Given the description of an element on the screen output the (x, y) to click on. 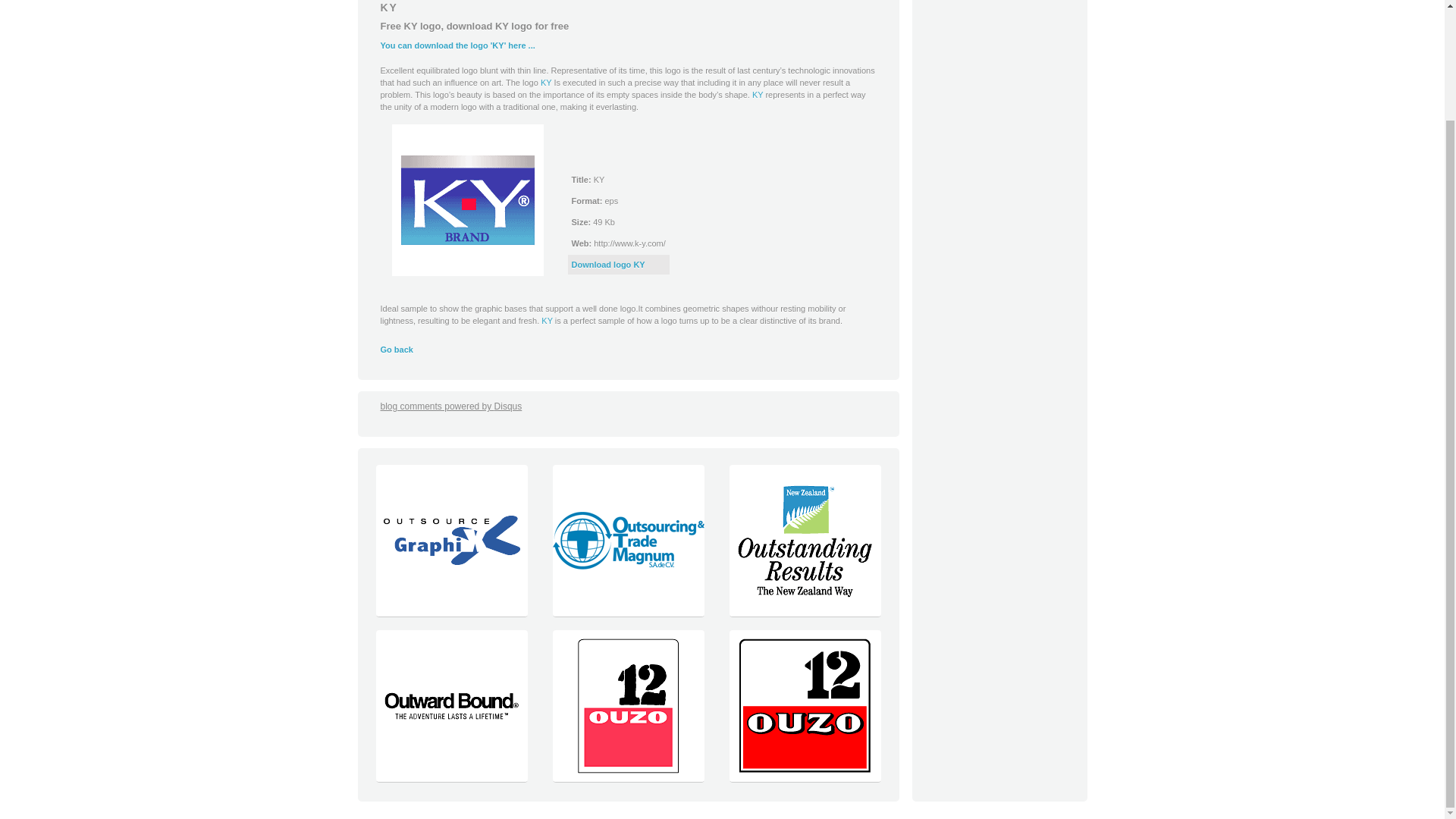
KY (546, 320)
Download Logo Outsource Graphix (450, 612)
Download KY (467, 200)
Download Logo Outward Bound (450, 778)
Go back (396, 348)
KY (757, 94)
Download Logo Outstanding Result (804, 612)
You can download the logo 'KY' here ... (457, 44)
KY (757, 94)
Download Logo Ouzo 12 (627, 778)
